Given the description of an element on the screen output the (x, y) to click on. 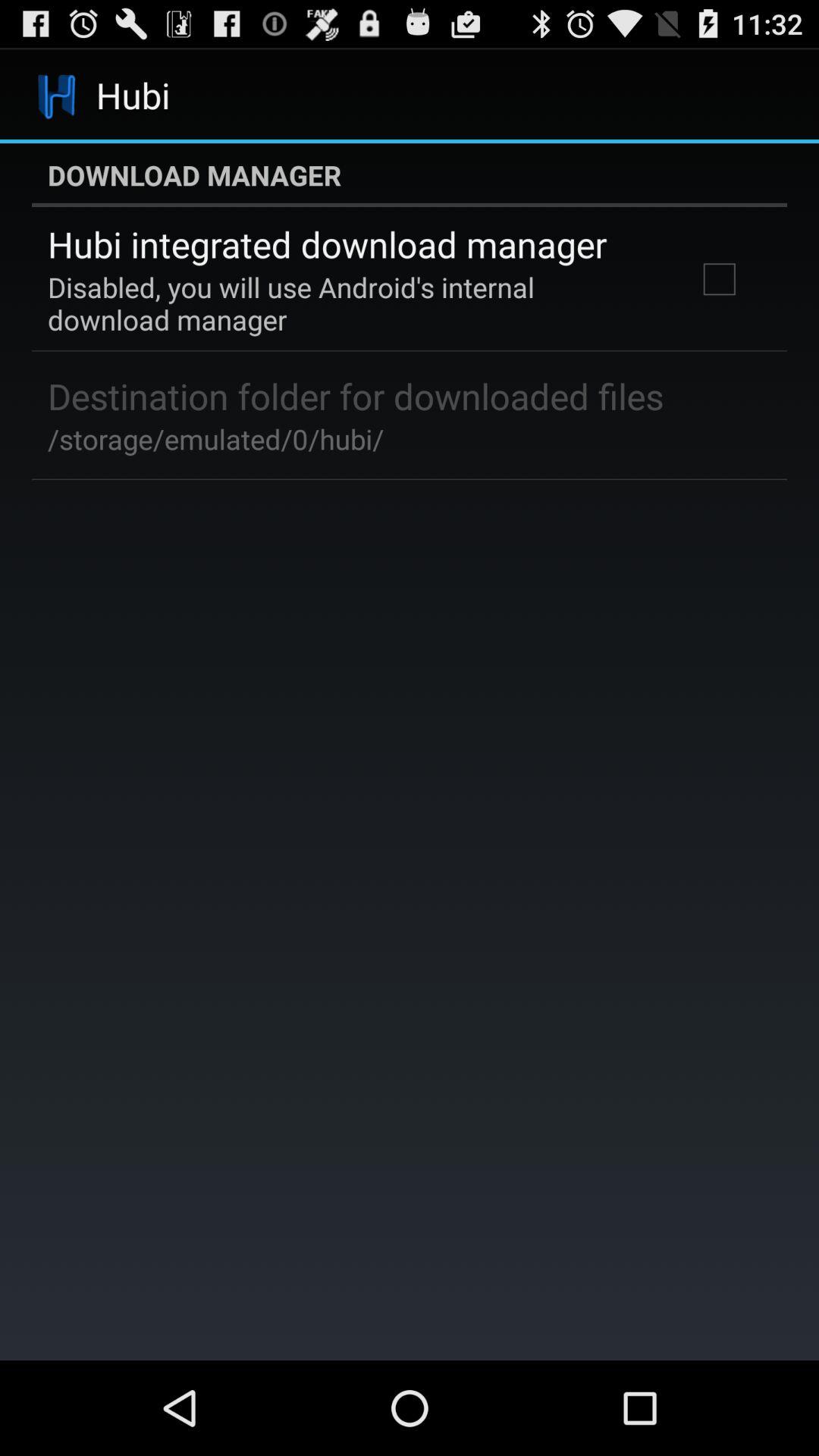
press the hubi integrated download (326, 244)
